Given the description of an element on the screen output the (x, y) to click on. 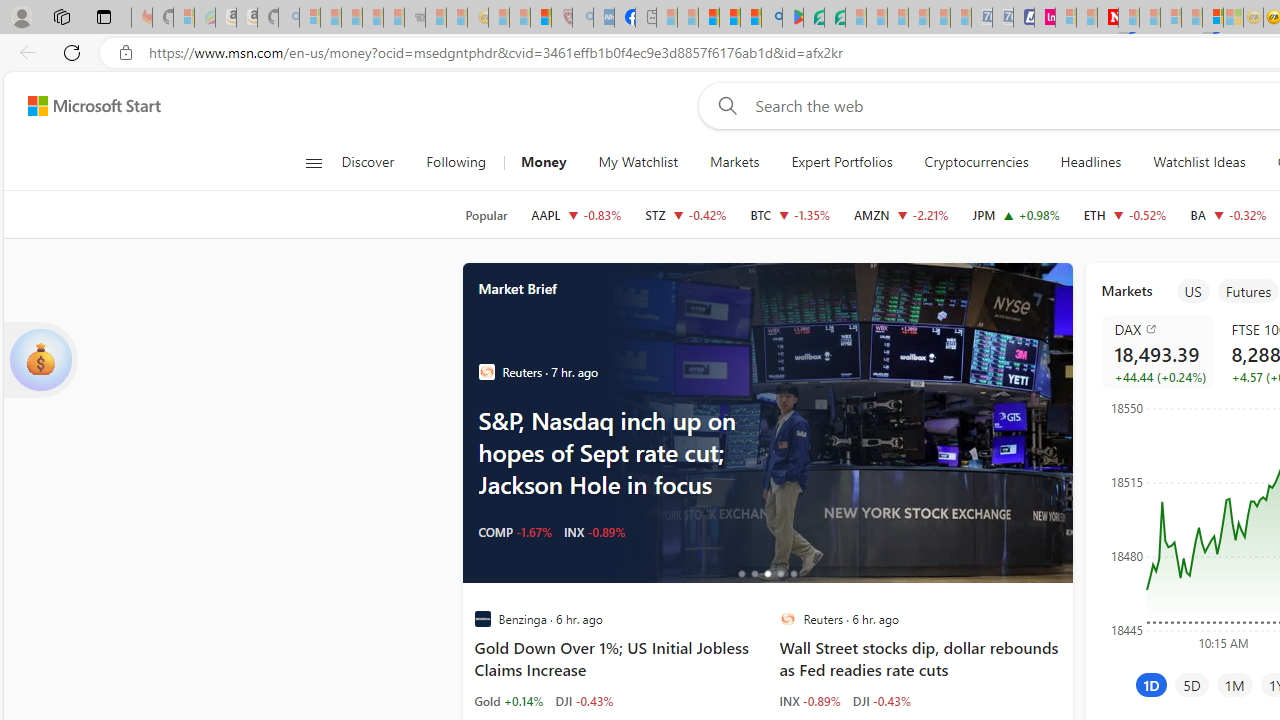
AAPL APPLE INC. decrease 224.53 -1.87 -0.83% (575, 214)
Money (543, 162)
Class: button-glyph (313, 162)
Gold +0.14% (508, 700)
Watchlist Ideas (1199, 162)
BA THE BOEING COMPANY decrease 172.87 -0.56 -0.32% (1227, 214)
14 Common Myths Debunked By Scientific Facts - Sleeping (1149, 17)
1D (1151, 684)
